Given the description of an element on the screen output the (x, y) to click on. 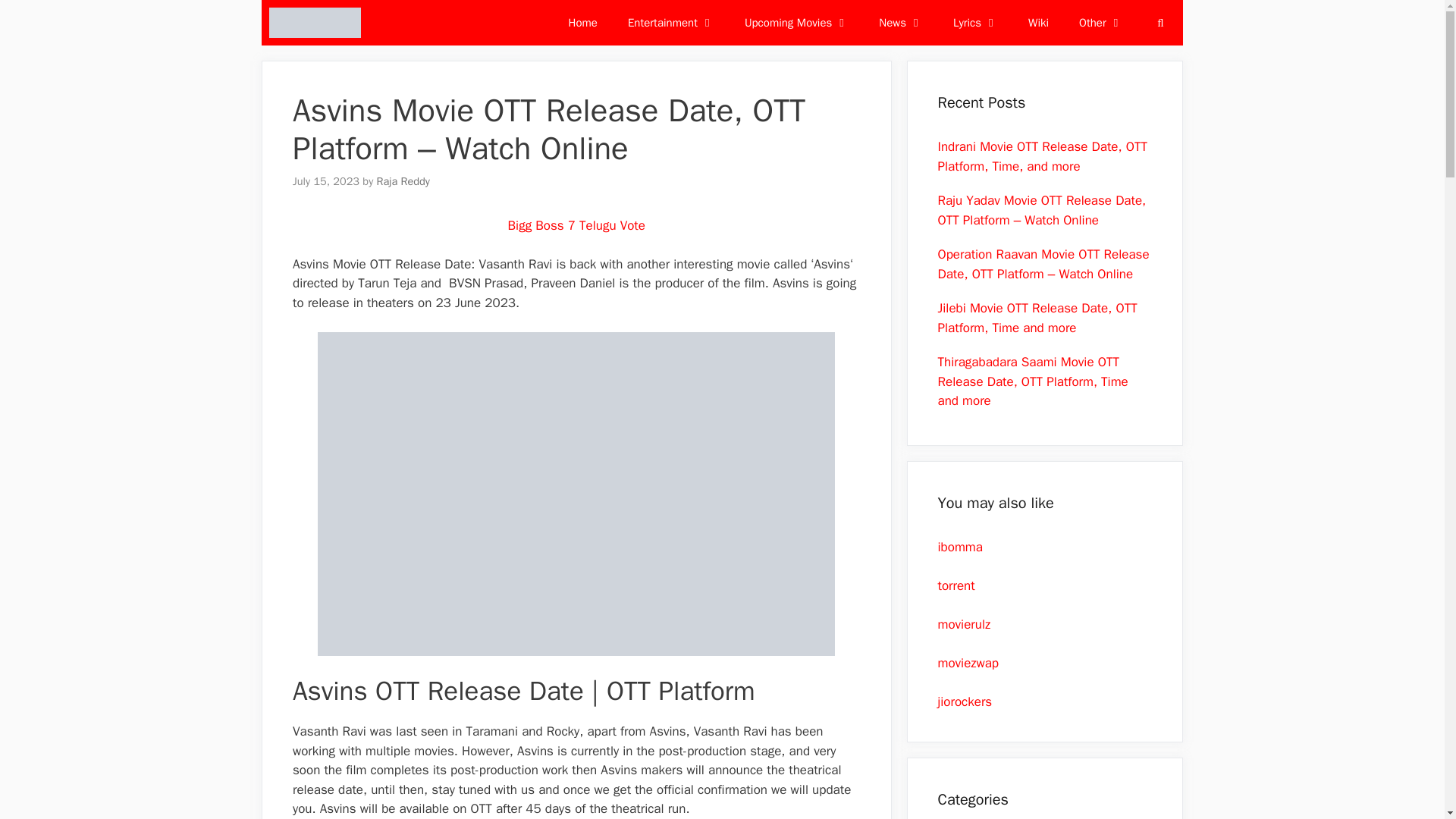
Telugu Hungama (315, 22)
View all posts by Raja Reddy (403, 181)
Telugu Hungama (318, 22)
